Given the description of an element on the screen output the (x, y) to click on. 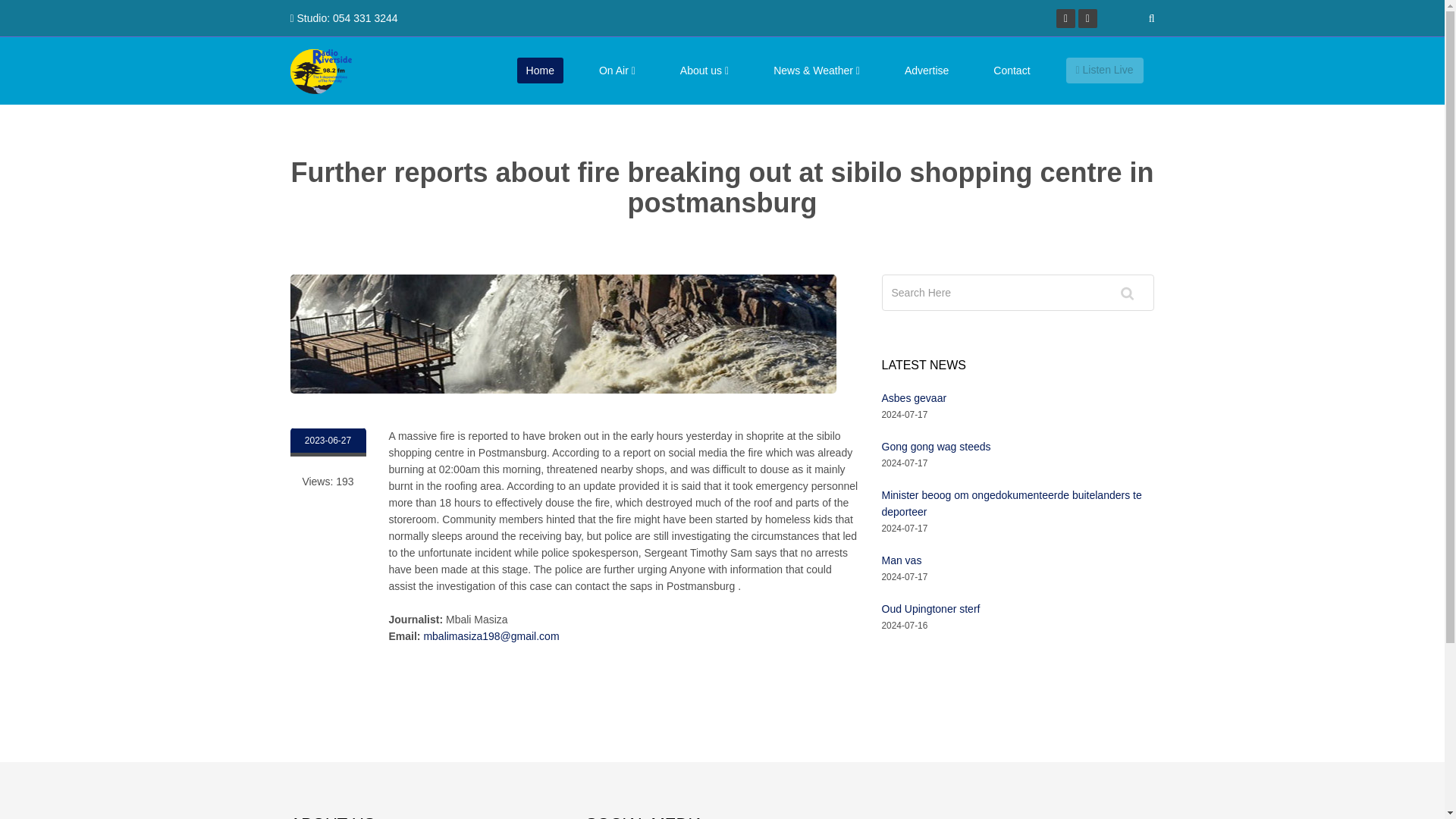
Contact (1011, 70)
Home (539, 70)
Advertise (926, 70)
Gong gong wag steeds (935, 446)
Listen Live (1103, 70)
On Air (617, 70)
About us (704, 70)
Asbes gevaar (913, 398)
Oud Upingtoner sterf (929, 608)
Man vas (900, 560)
